Given the description of an element on the screen output the (x, y) to click on. 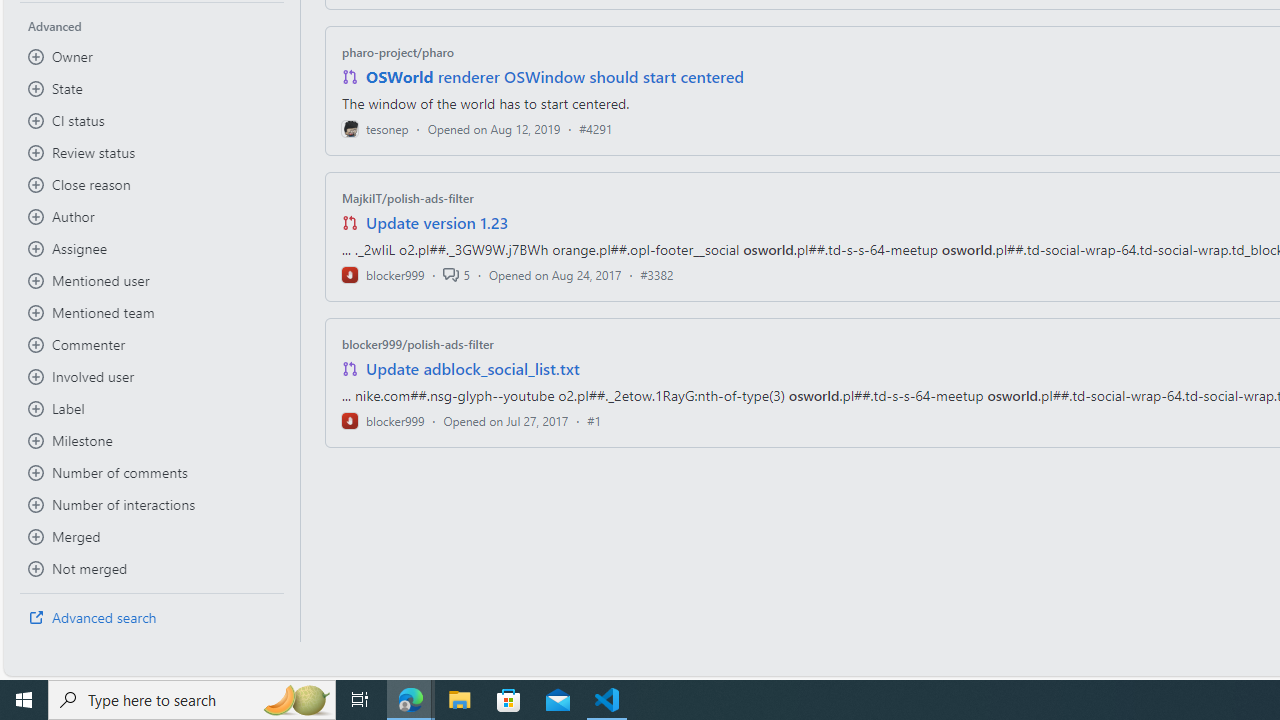
#4291 (595, 128)
Update adblock_social_list.txt (472, 368)
Advanced search (152, 617)
#1 (594, 420)
#4291 (595, 128)
5 (455, 273)
